Given the description of an element on the screen output the (x, y) to click on. 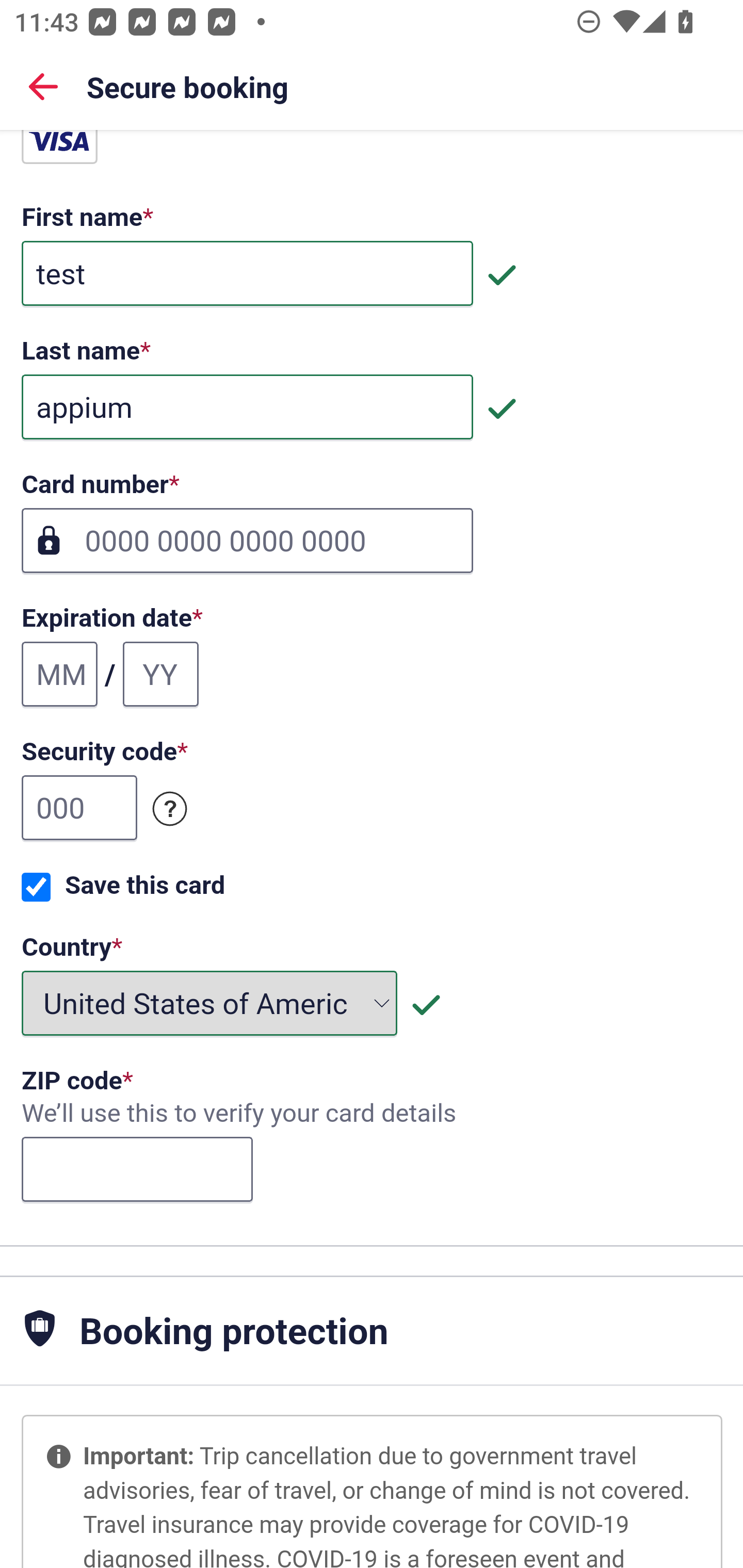
Back (43, 86)
test (247, 273)
appium (247, 406)
Security code (170, 807)
Save this card (36, 887)
United States of America (209, 1002)
